Given the description of an element on the screen output the (x, y) to click on. 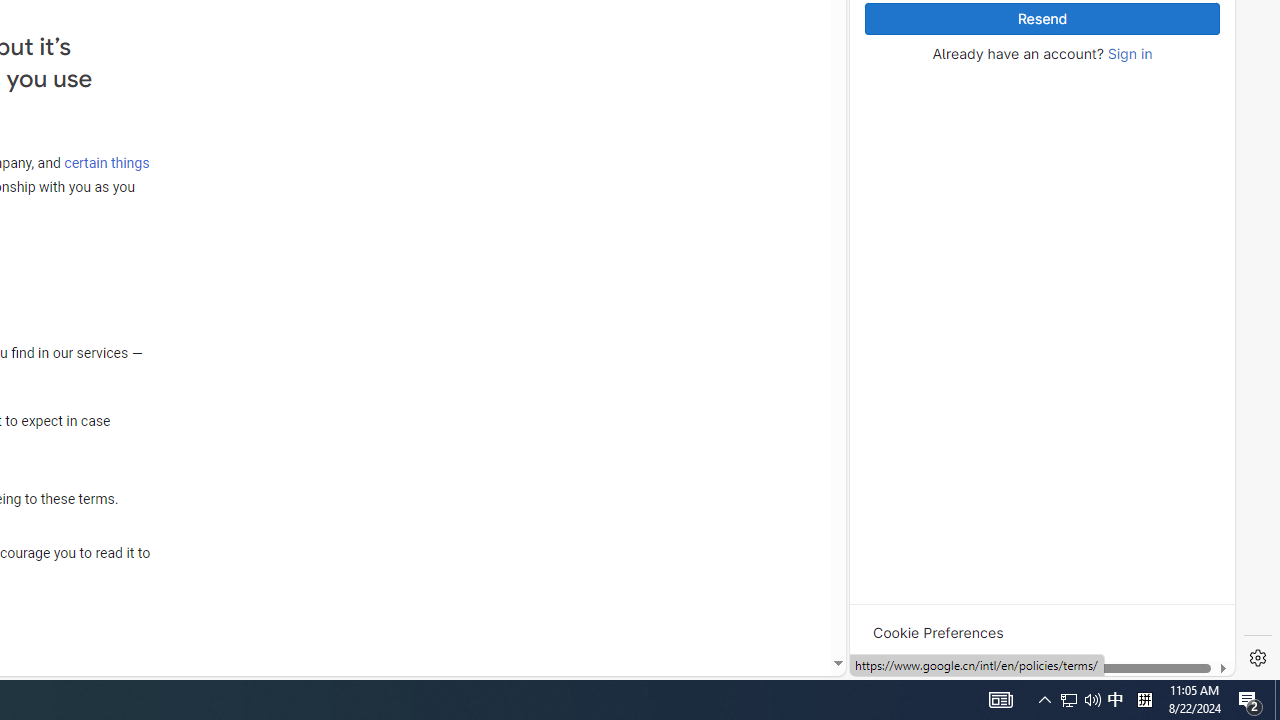
Cookie Preferences (938, 632)
GitLab (966, 678)
View details (1145, 255)
View details (1145, 256)
Resend (1042, 19)
